Given the description of an element on the screen output the (x, y) to click on. 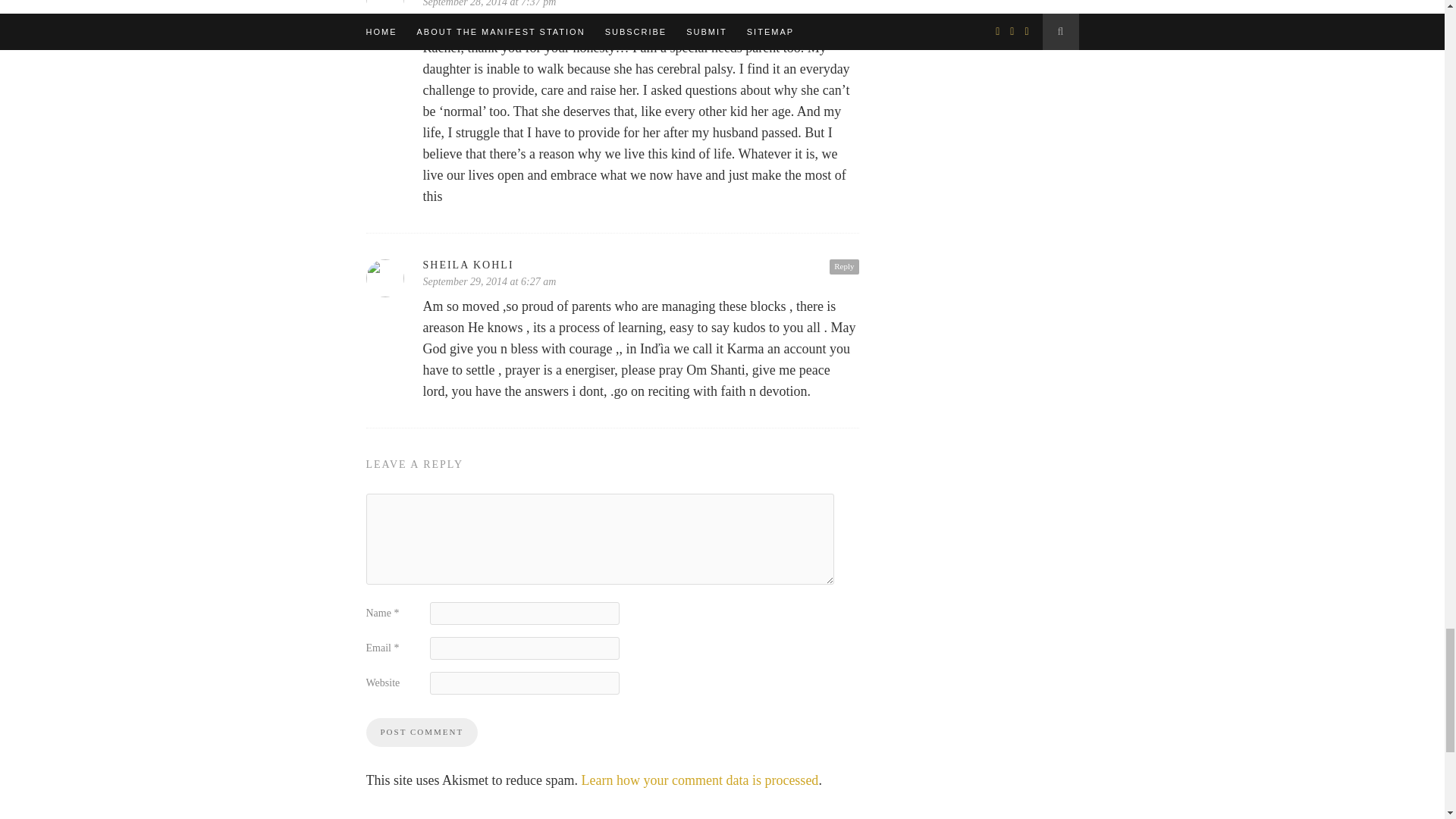
Post Comment (421, 732)
